Given the description of an element on the screen output the (x, y) to click on. 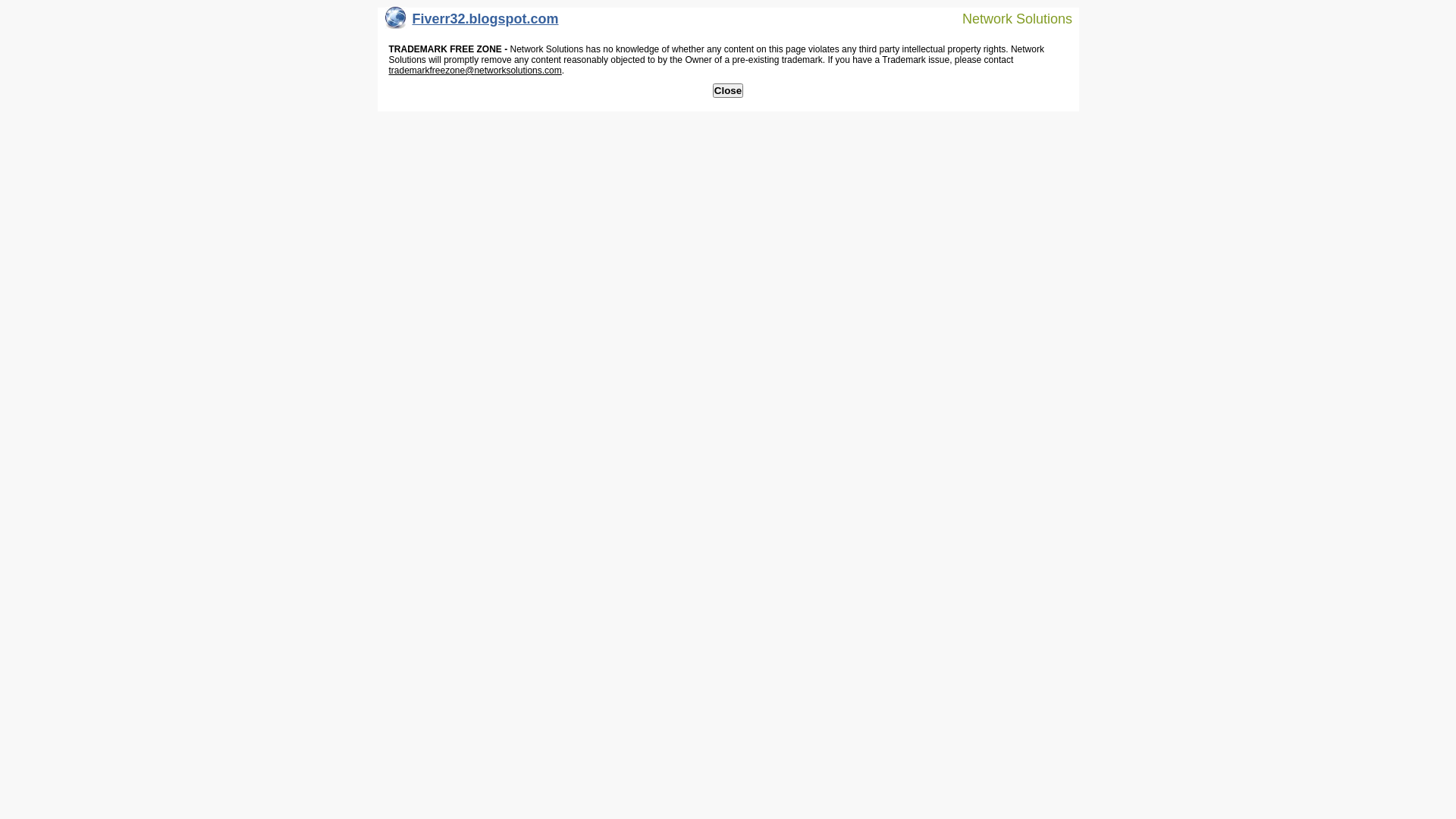
Fiverr32.blogspot.com Element type: text (471, 21)
Network Solutions Element type: text (1007, 17)
Close Element type: text (727, 90)
trademarkfreezone@networksolutions.com Element type: text (474, 70)
